Given the description of an element on the screen output the (x, y) to click on. 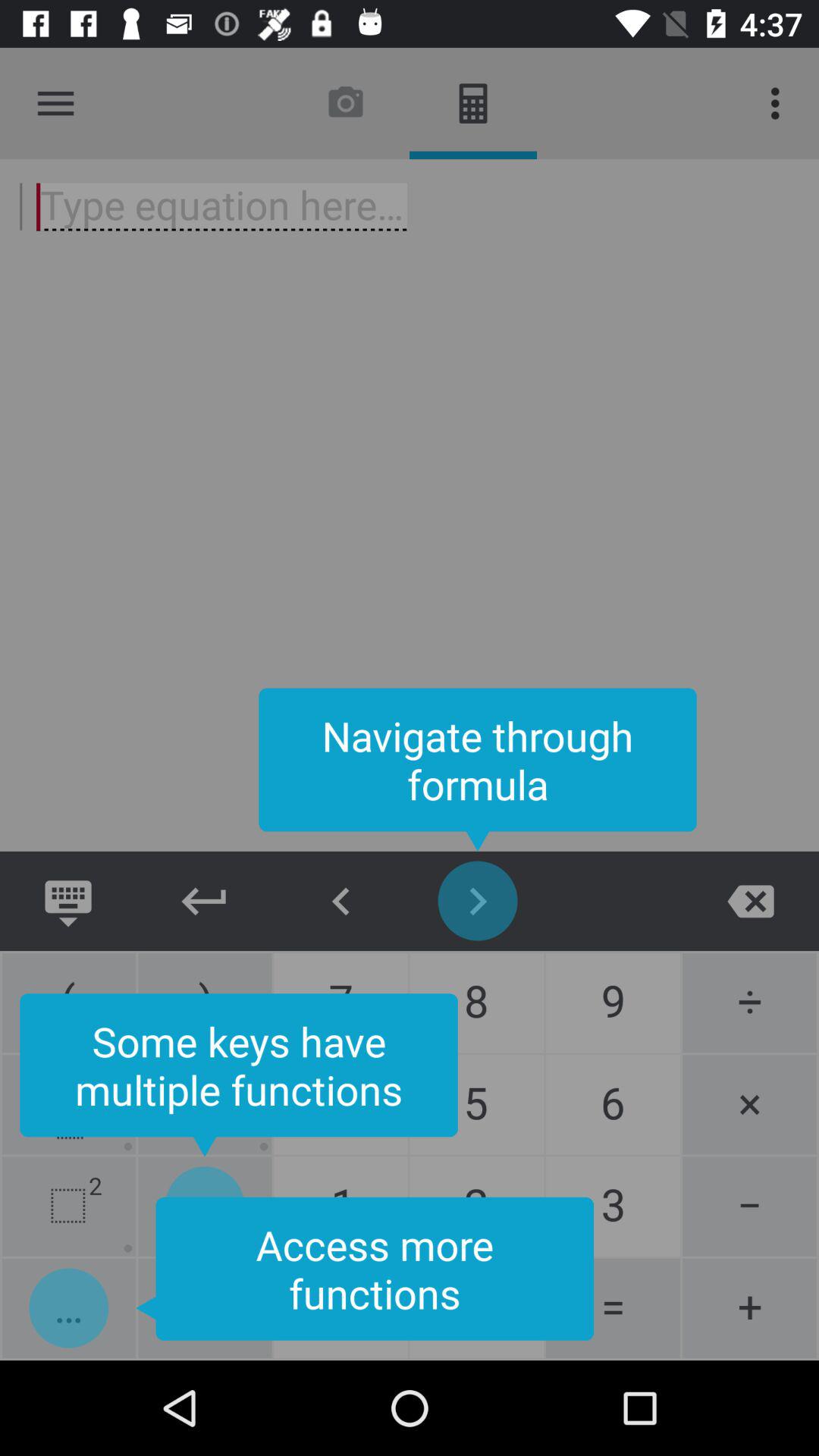
before (341, 900)
